Given the description of an element on the screen output the (x, y) to click on. 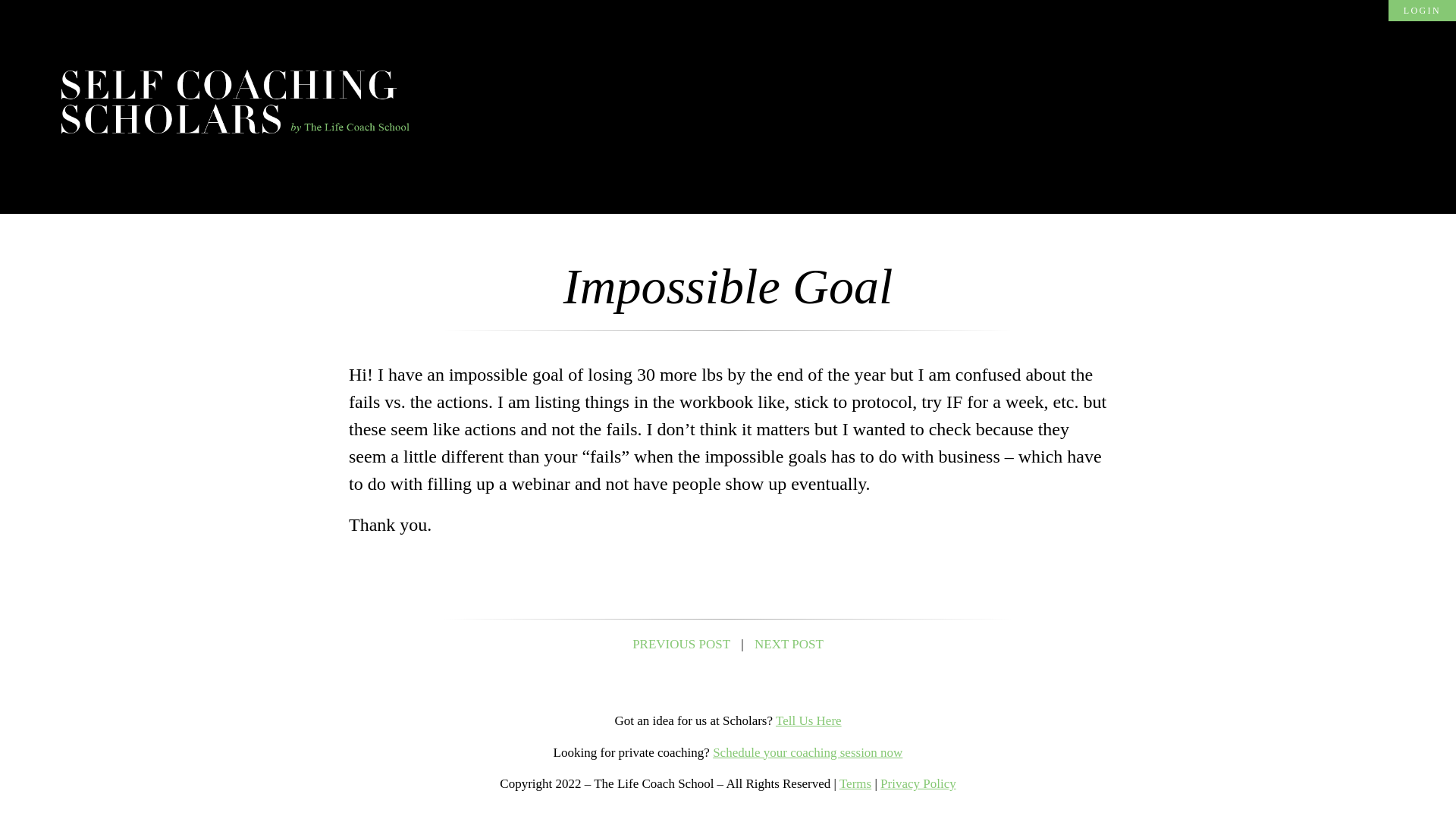
Tell Us Here (808, 720)
Privacy Policy (918, 783)
Terms (855, 783)
PREVIOUS POST (680, 644)
Schedule your coaching session now (807, 752)
NEXT POST (789, 644)
